Given the description of an element on the screen output the (x, y) to click on. 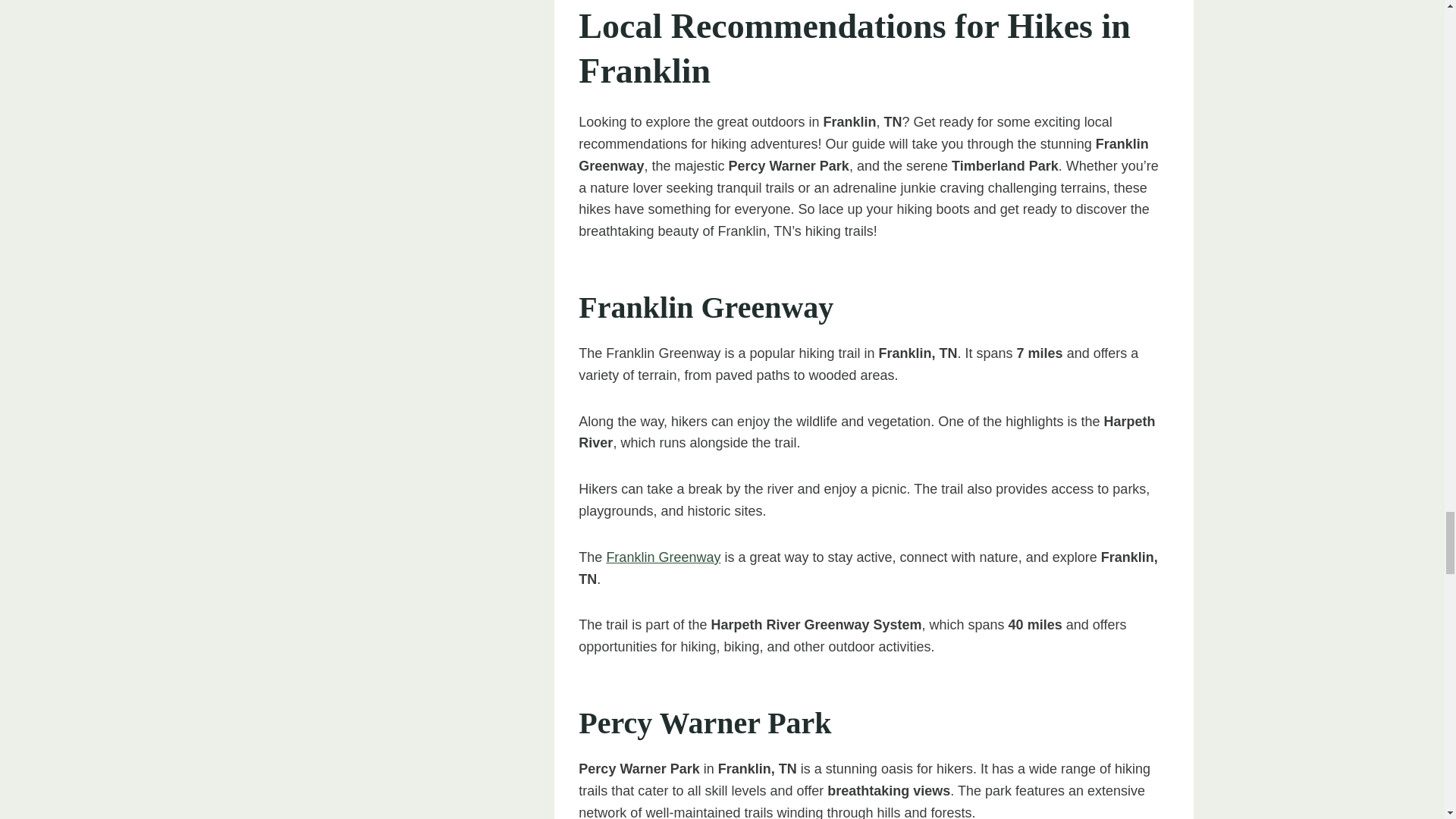
Franklin Greenway (662, 557)
